Given the description of an element on the screen output the (x, y) to click on. 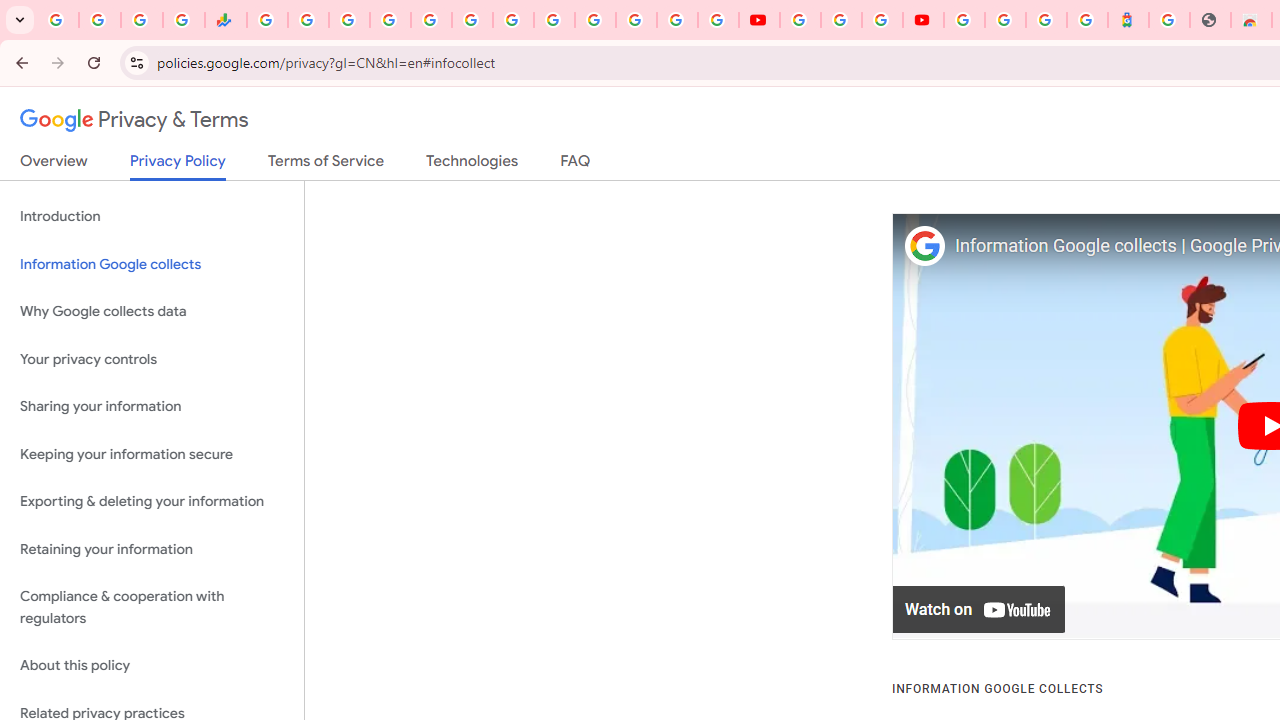
Create your Google Account (881, 20)
Keeping your information secure (152, 453)
Your privacy controls (152, 358)
Sign in - Google Accounts (676, 20)
Atour Hotel - Google hotels (1128, 20)
Sign in - Google Accounts (389, 20)
Sign in - Google Accounts (964, 20)
Information Google collects (152, 263)
